Given the description of an element on the screen output the (x, y) to click on. 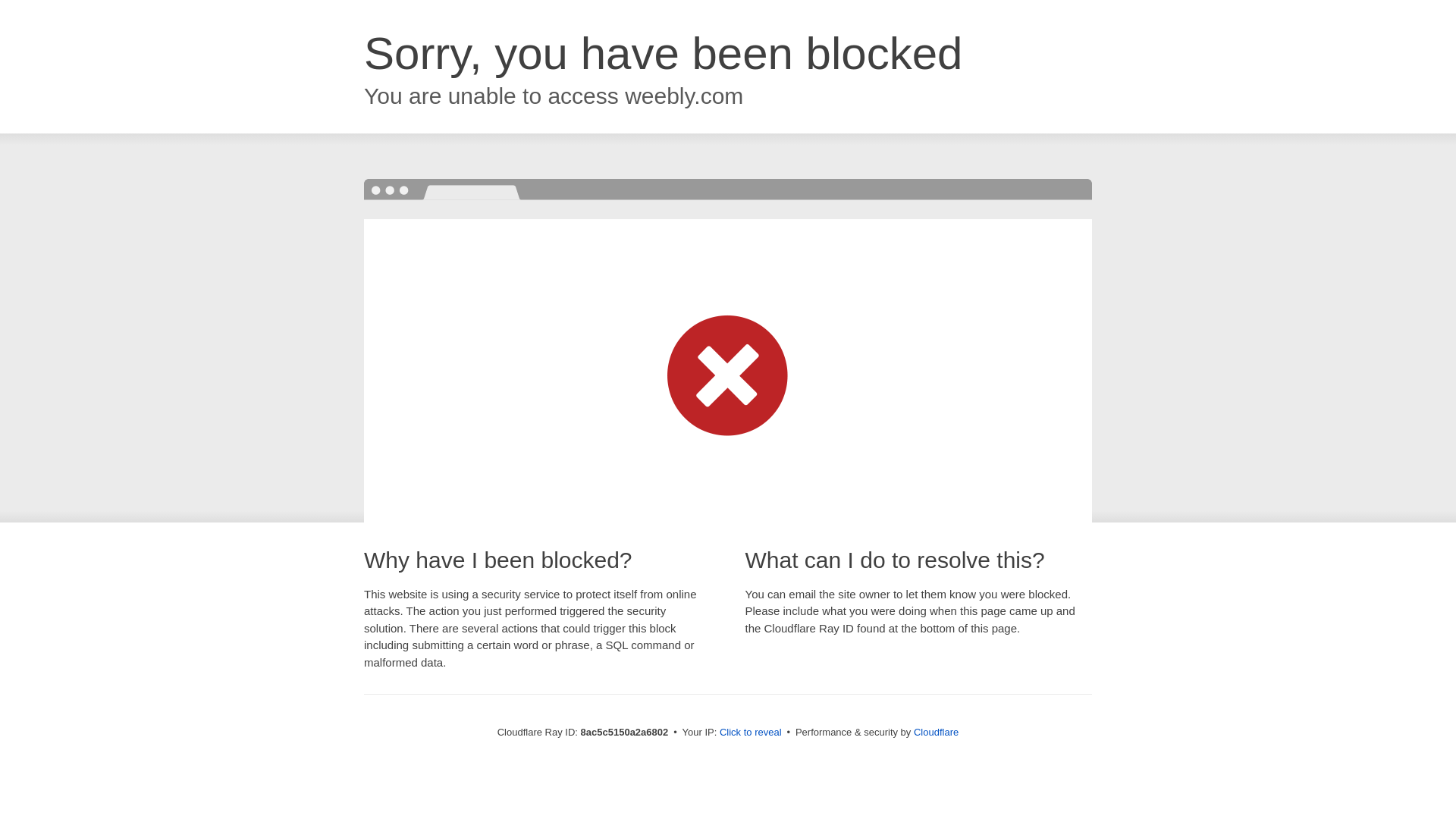
Click to reveal (750, 732)
Cloudflare (936, 731)
